Given the description of an element on the screen output the (x, y) to click on. 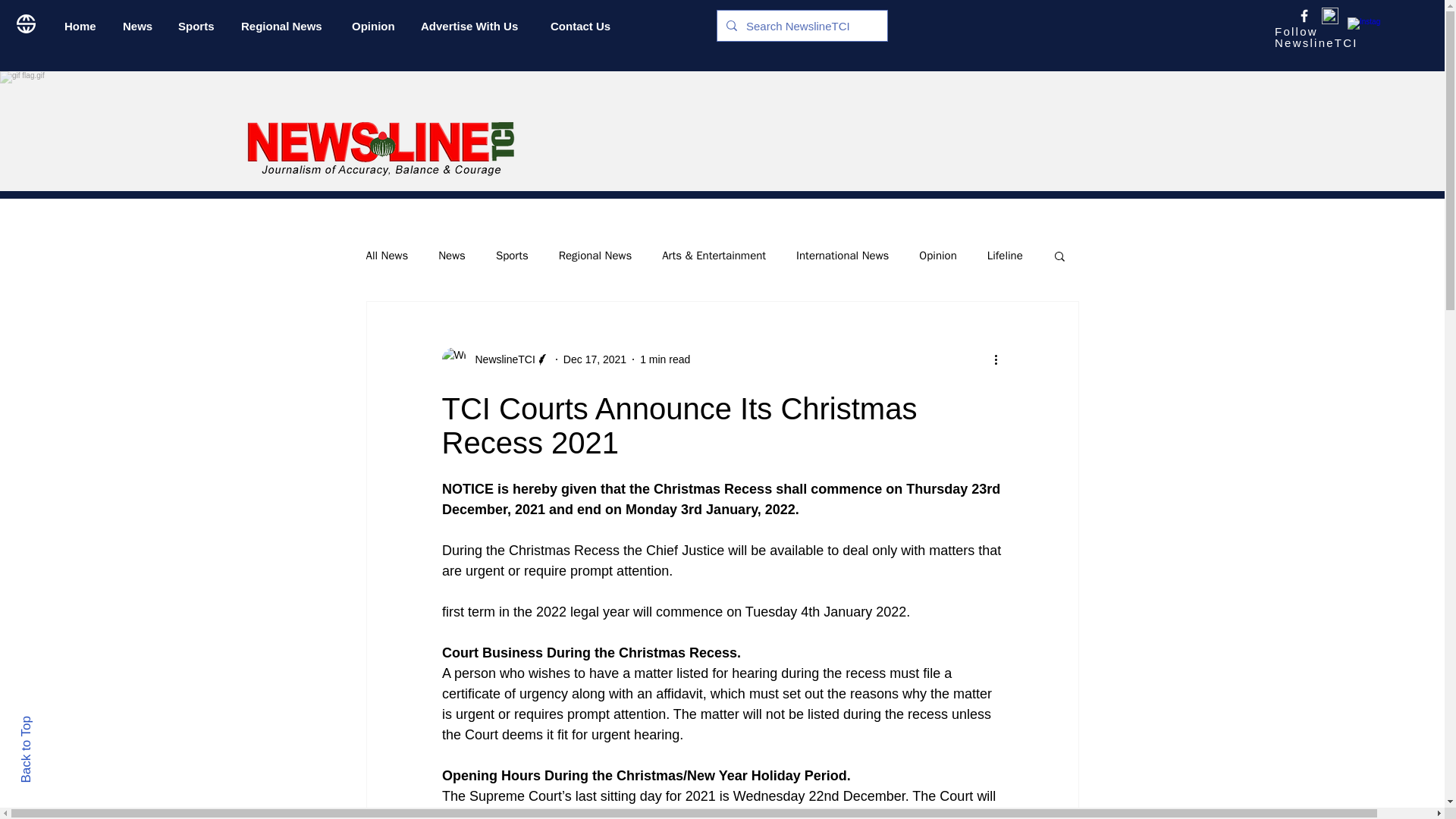
News (139, 26)
Sports (198, 26)
Sports (512, 255)
Opinion (937, 255)
Contact Us (584, 26)
Advertise With Us (473, 26)
Opinion (374, 26)
News (451, 255)
1 min read (665, 358)
Dec 17, 2021 (594, 358)
NewslineTCI (499, 359)
All News (386, 255)
International News (842, 255)
NewslineTCI (494, 359)
Regional News (285, 26)
